Given the description of an element on the screen output the (x, y) to click on. 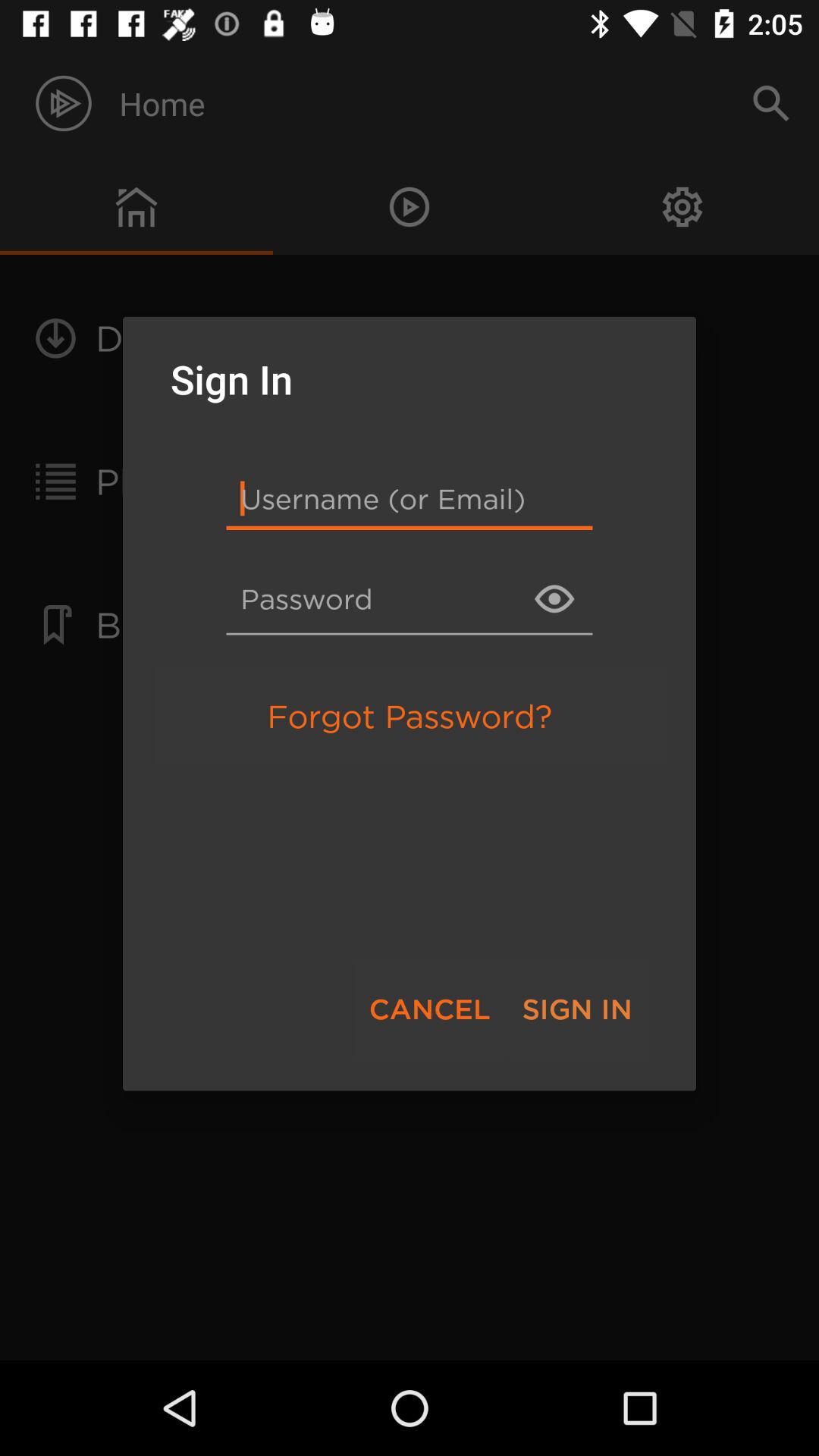
press the forgot password? item (409, 716)
